Given the description of an element on the screen output the (x, y) to click on. 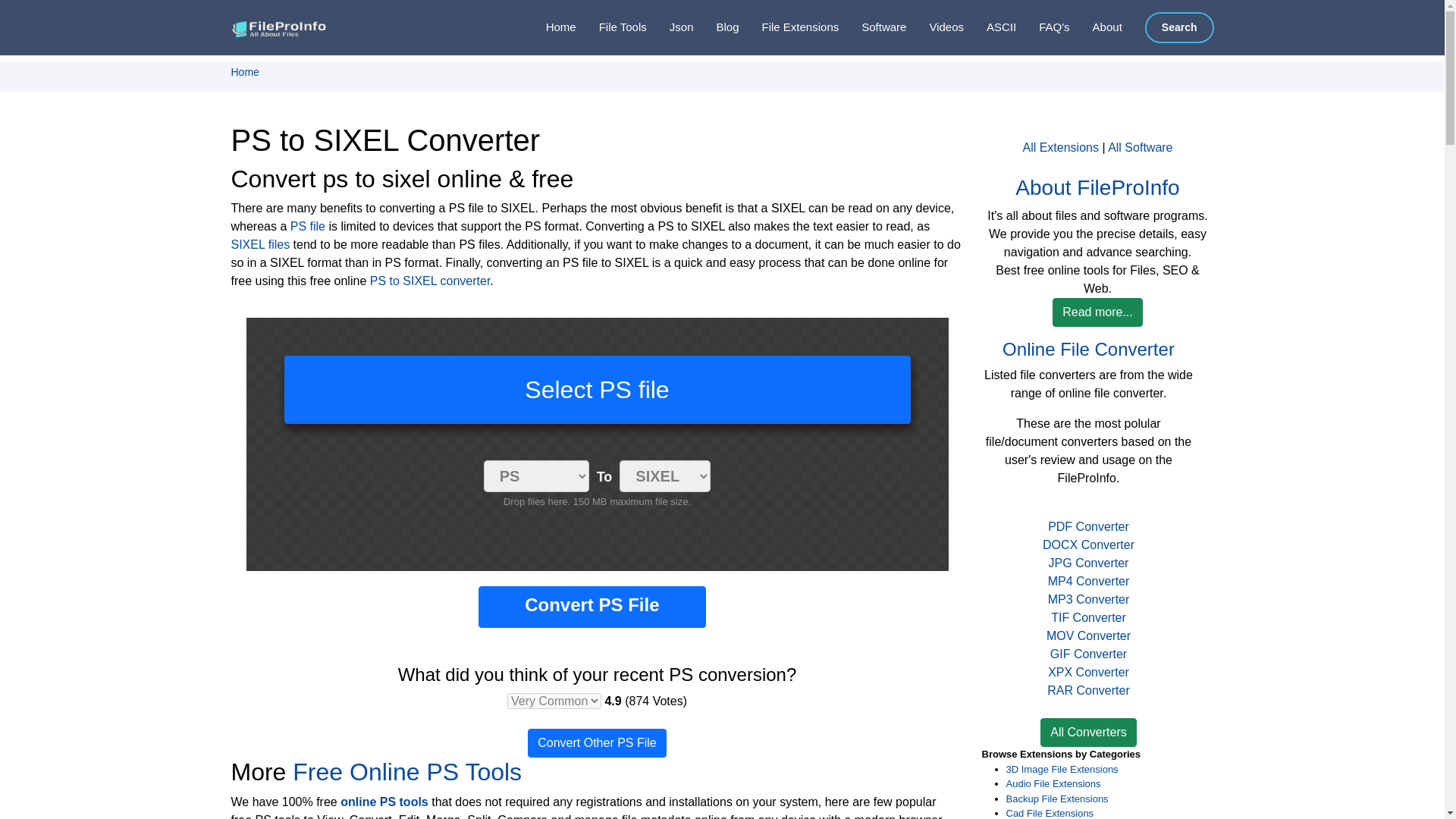
Home (549, 27)
Blog (715, 27)
Browse all free online PS tools (384, 801)
PS to SIXEL converter (429, 280)
Free Online PS Tools (406, 771)
Software program list (871, 27)
File Extensions (789, 27)
Videos (934, 27)
Videos (934, 27)
Blog (715, 27)
